Given the description of an element on the screen output the (x, y) to click on. 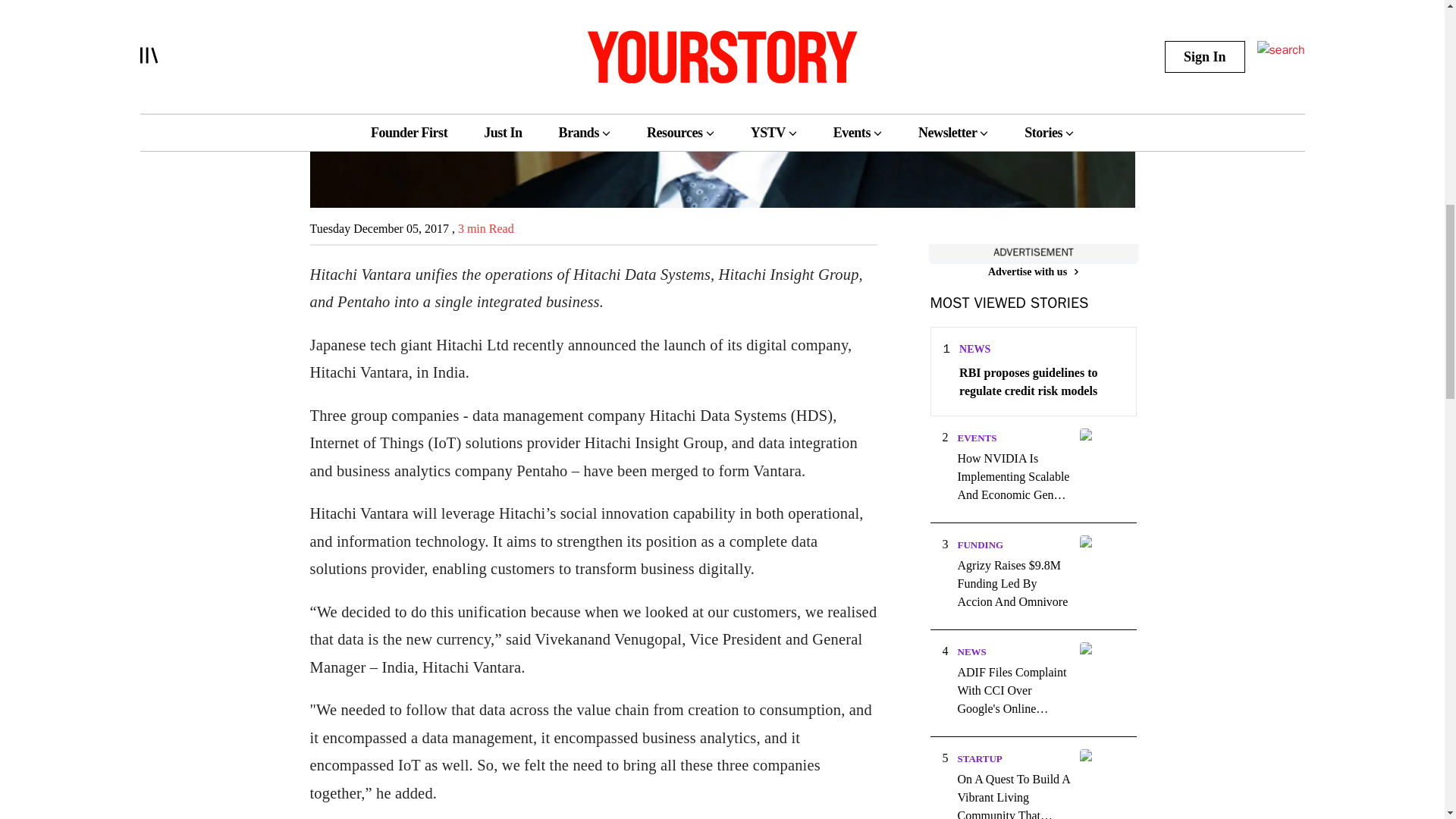
RBI proposes guidelines to regulate credit risk models (1040, 381)
STARTUP (978, 758)
NEWS (974, 348)
EVENTS (975, 437)
NEWS (970, 651)
FUNDING (979, 544)
Advertise with us (1032, 271)
